Given the description of an element on the screen output the (x, y) to click on. 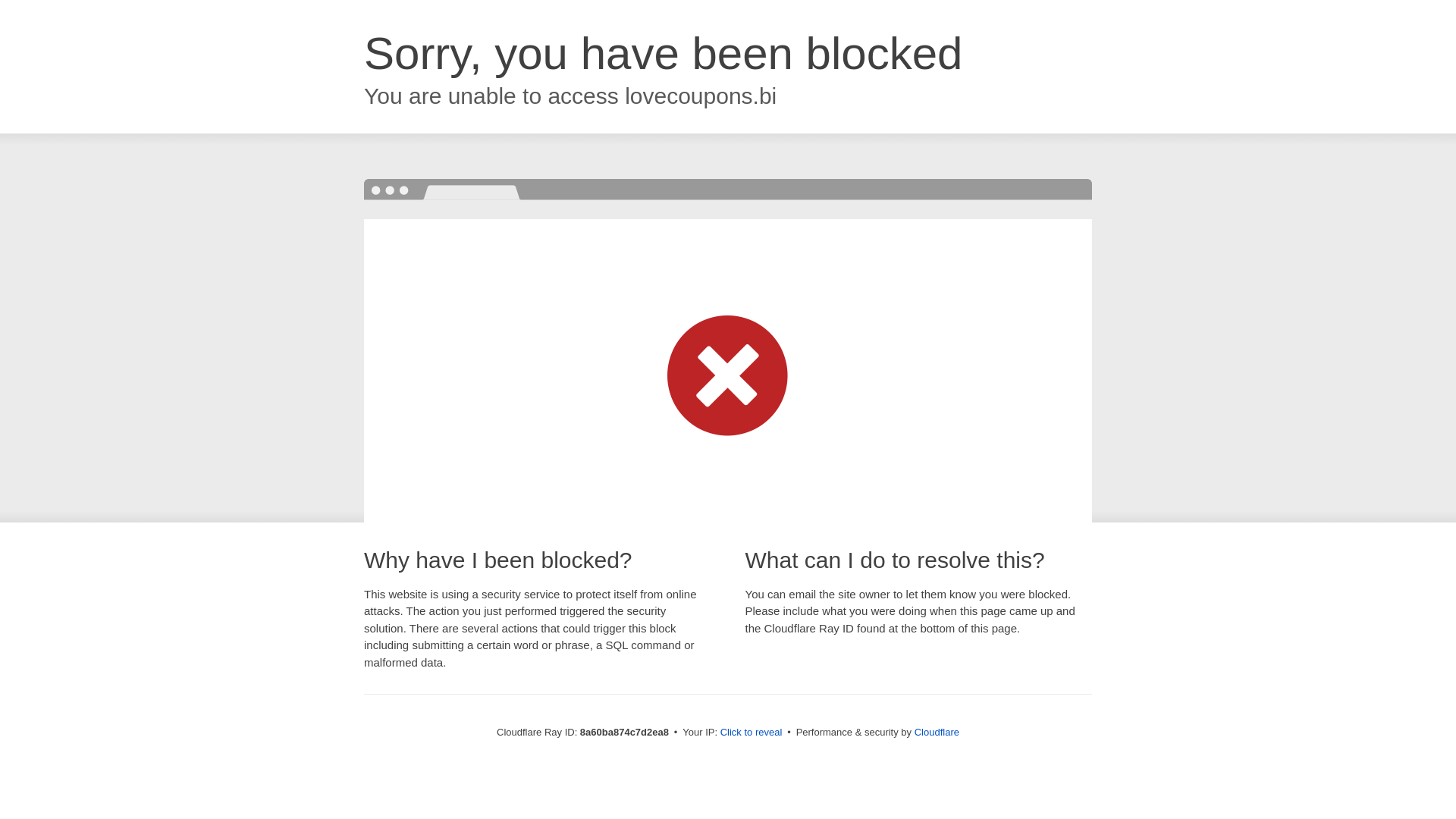
Cloudflare (936, 731)
Click to reveal (751, 732)
